Given the description of an element on the screen output the (x, y) to click on. 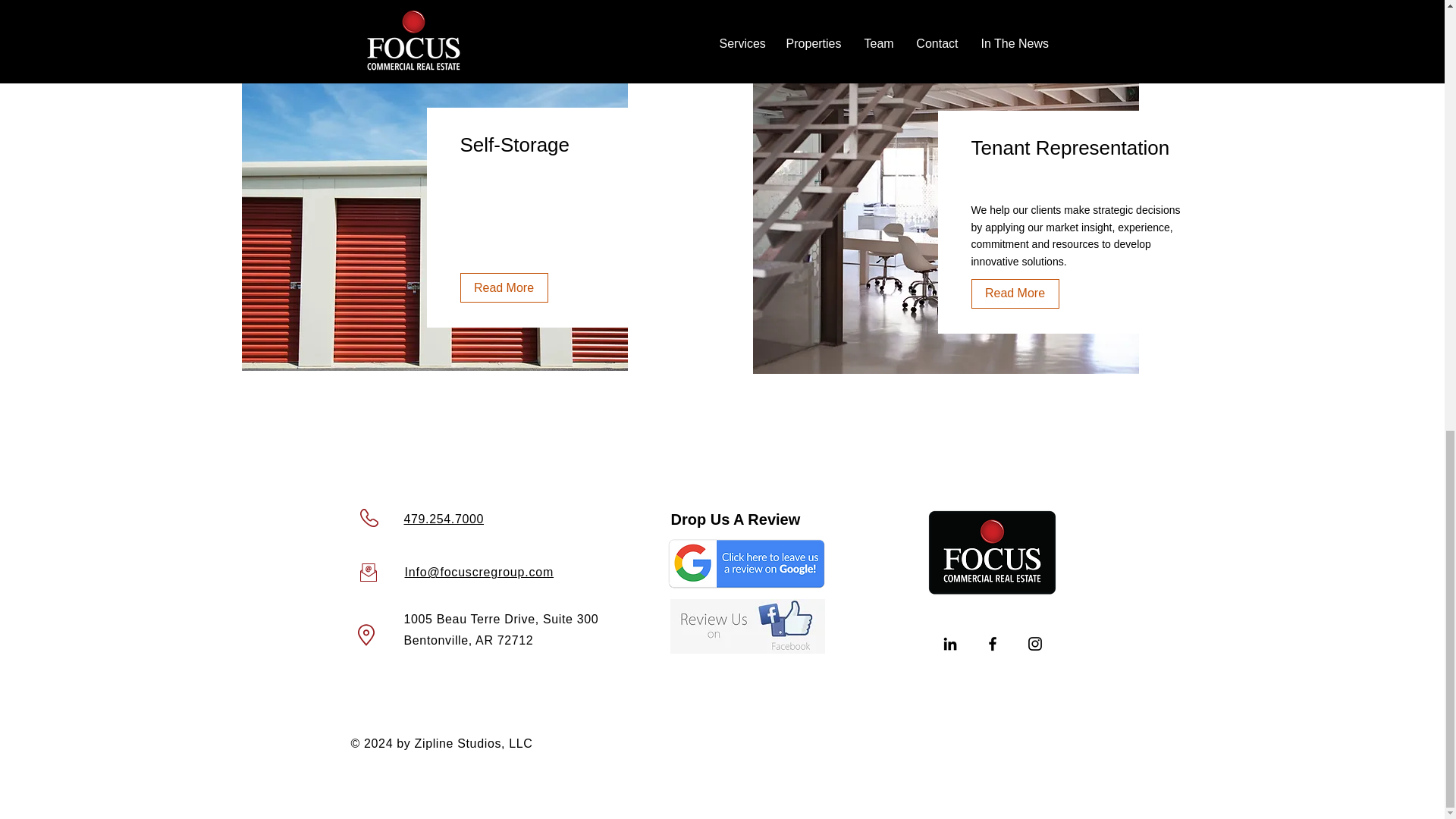
Self-Storage Units.jpg (434, 218)
Read More (1014, 293)
Read More (503, 287)
office space.jpg (945, 220)
